Given the description of an element on the screen output the (x, y) to click on. 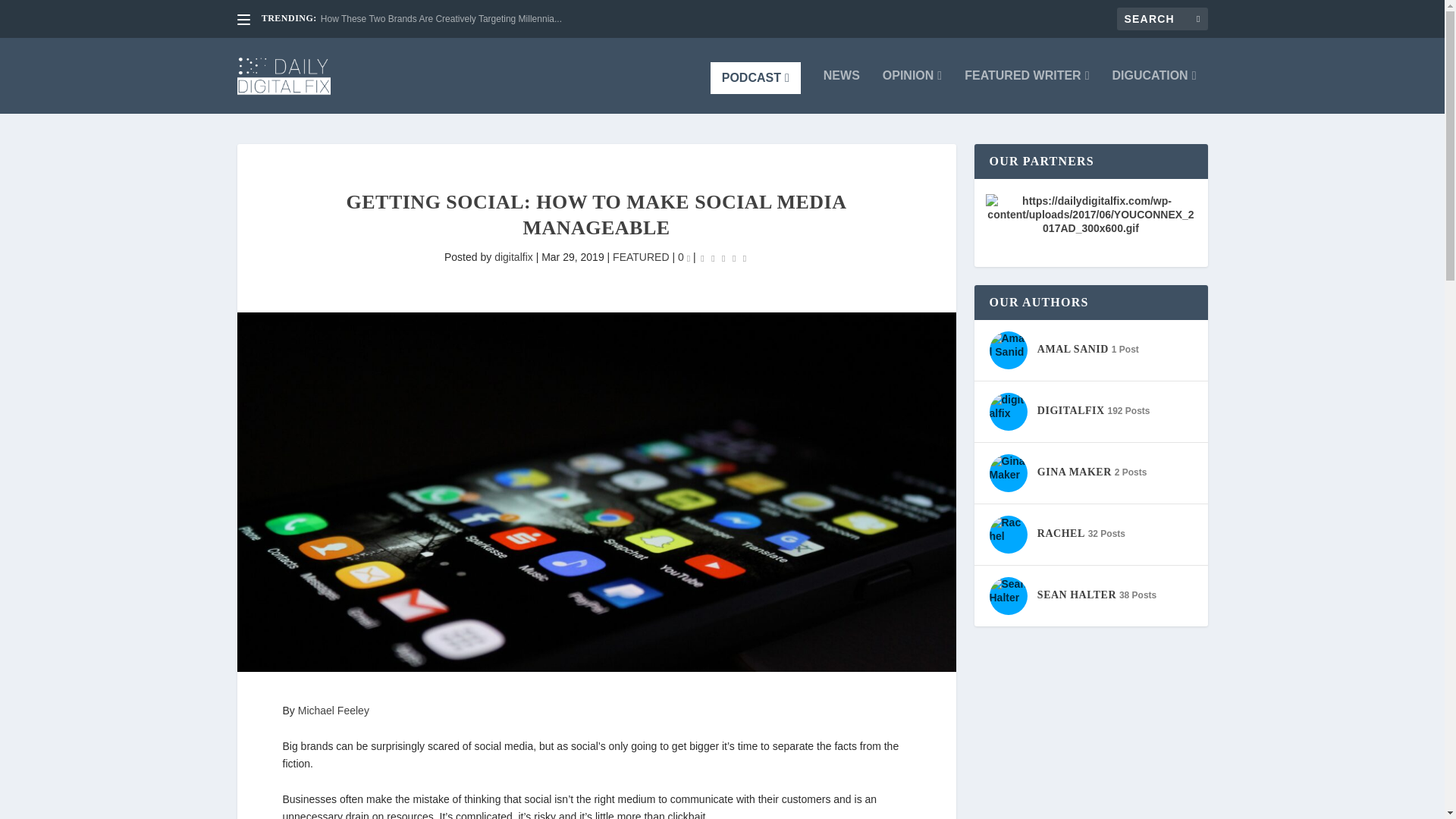
PODCAST (755, 78)
Search for: (1161, 18)
How These Two Brands Are Creatively Targeting Millennia... (441, 18)
FEATURED WRITER (1026, 91)
OPINION (912, 91)
